Given the description of an element on the screen output the (x, y) to click on. 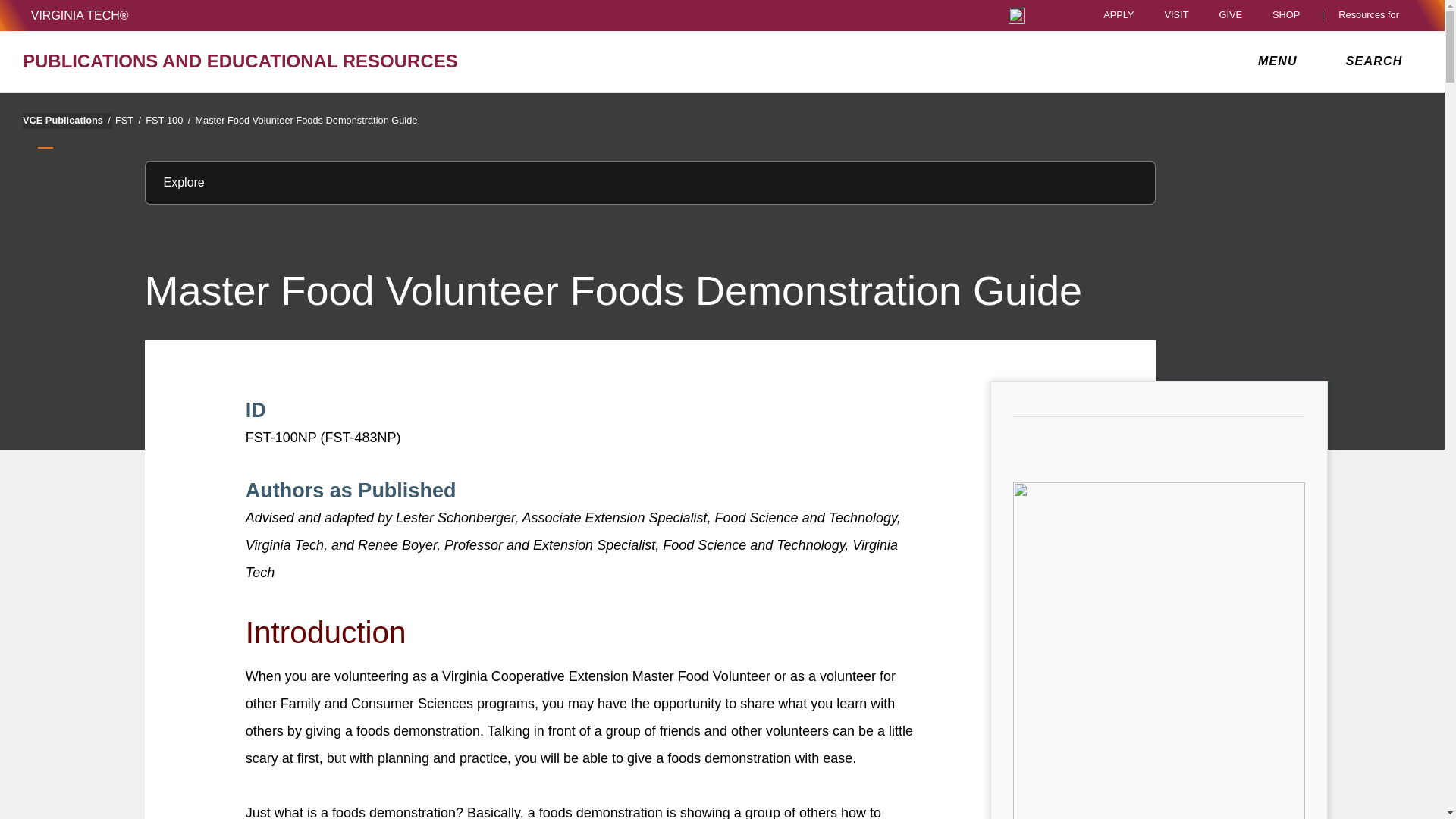
GIVE (1229, 15)
PUBLICATIONS AND EDUCATIONAL RESOURCES (250, 60)
VISIT (1175, 15)
APPLY (1118, 15)
Resources for (1372, 15)
MENU (1280, 61)
SHOP (1289, 15)
Universal Access Toggle (1017, 15)
